Given the description of an element on the screen output the (x, y) to click on. 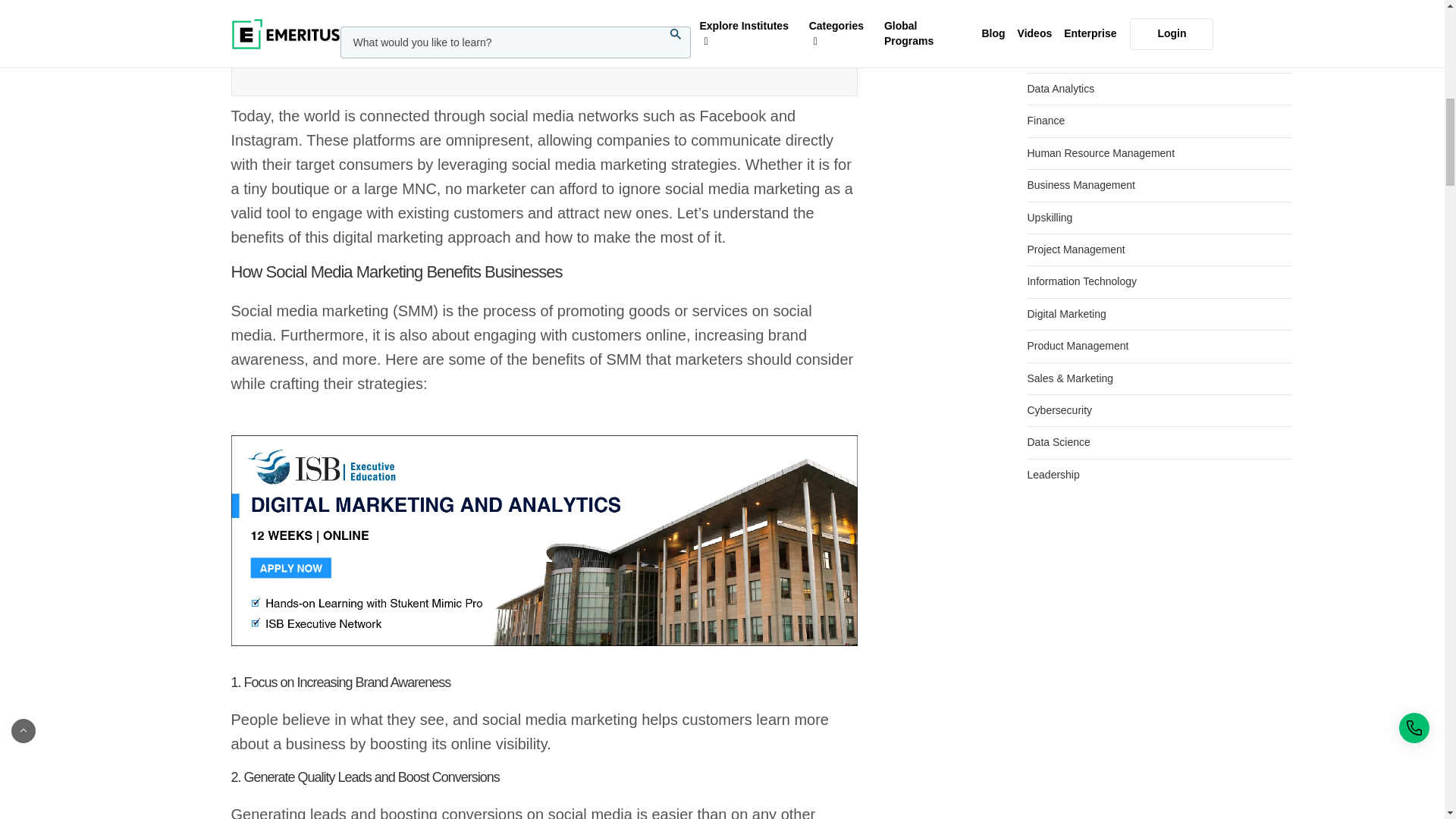
How Social Media Marketing Benefits Businesses (543, 272)
